Given the description of an element on the screen output the (x, y) to click on. 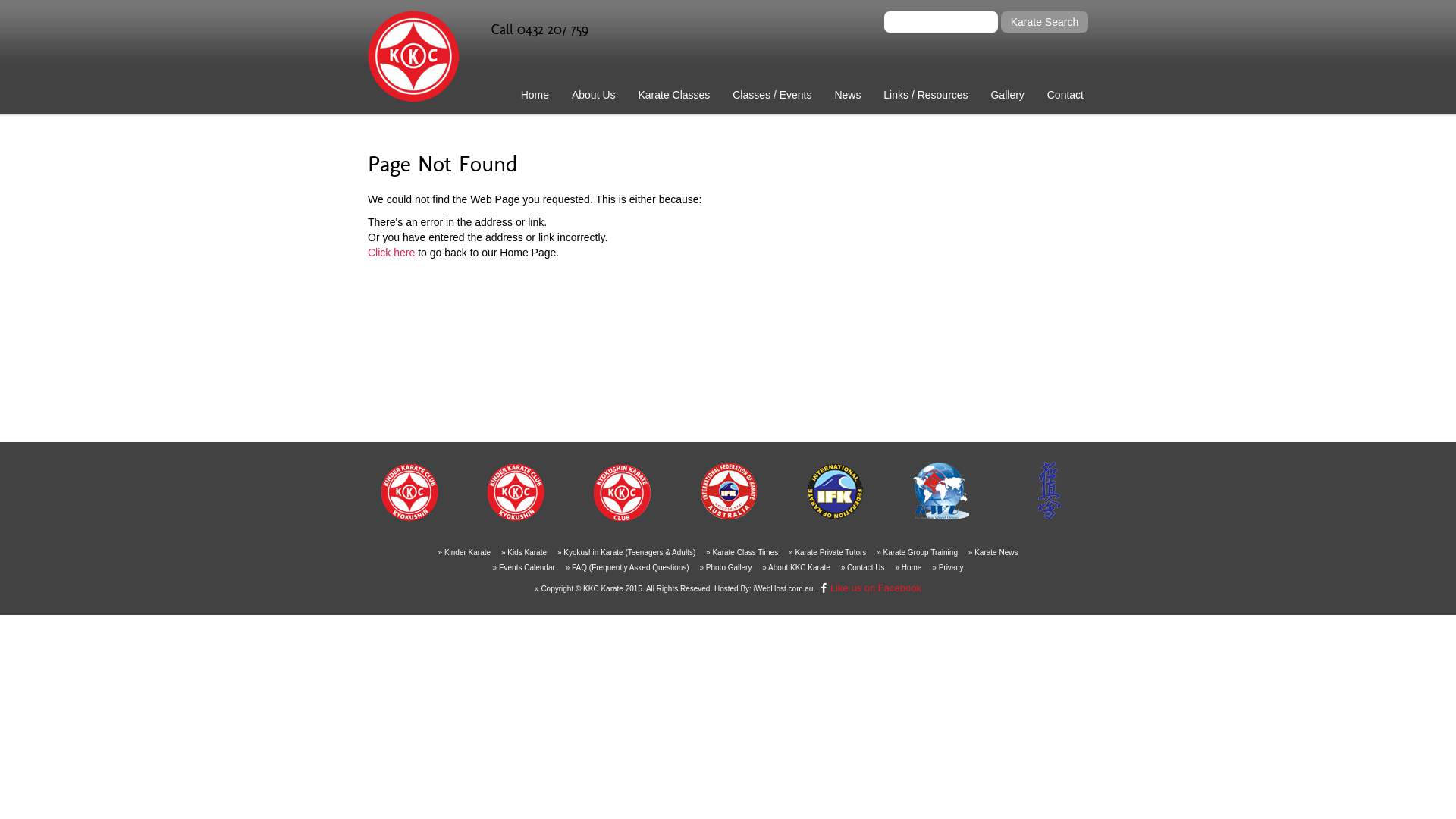
Class Times Element type: text (782, 116)
Karate Search Element type: text (1044, 21)
Like us on Facebook Element type: text (869, 587)
Click here Element type: text (390, 252)
Home Element type: text (534, 94)
Gallery Element type: text (1006, 94)
iWebHost.com.au Element type: text (783, 588)
Links / Resources Element type: text (925, 94)
2019 Karate News Element type: text (883, 116)
FAQ Element type: text (1096, 116)
2019 Gallery Element type: text (1039, 116)
Contact Element type: text (1065, 94)
About Us Element type: text (593, 94)
Classes / Events Element type: text (771, 94)
Karate Classes Element type: text (673, 94)
Teens & Adults Karate Element type: text (687, 122)
News Element type: text (847, 94)
Kinder Karate Club Element type: text (687, 116)
Call 0432 207 759 Element type: text (582, 29)
